Given the description of an element on the screen output the (x, y) to click on. 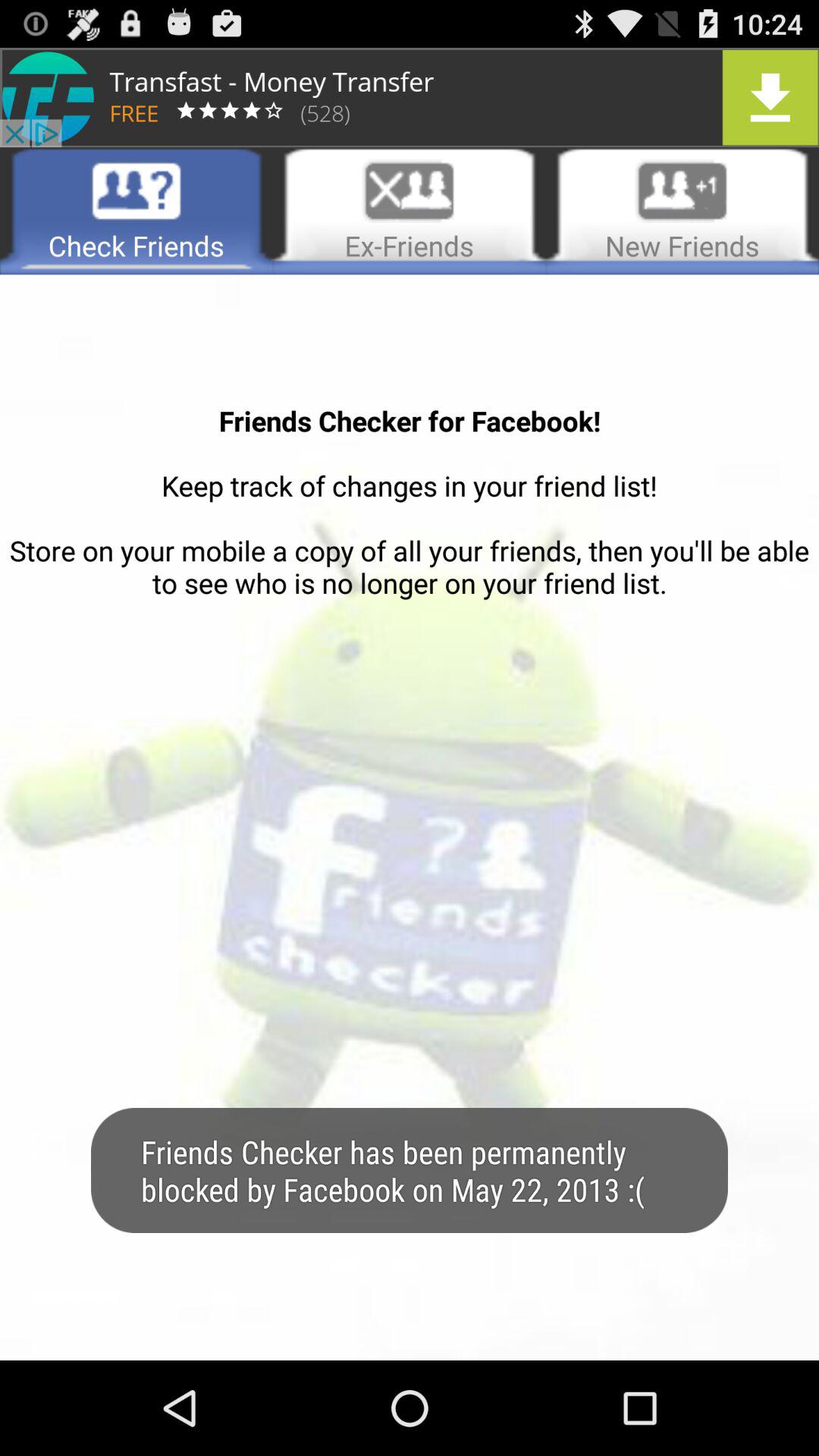
advertisement (409, 97)
